Given the description of an element on the screen output the (x, y) to click on. 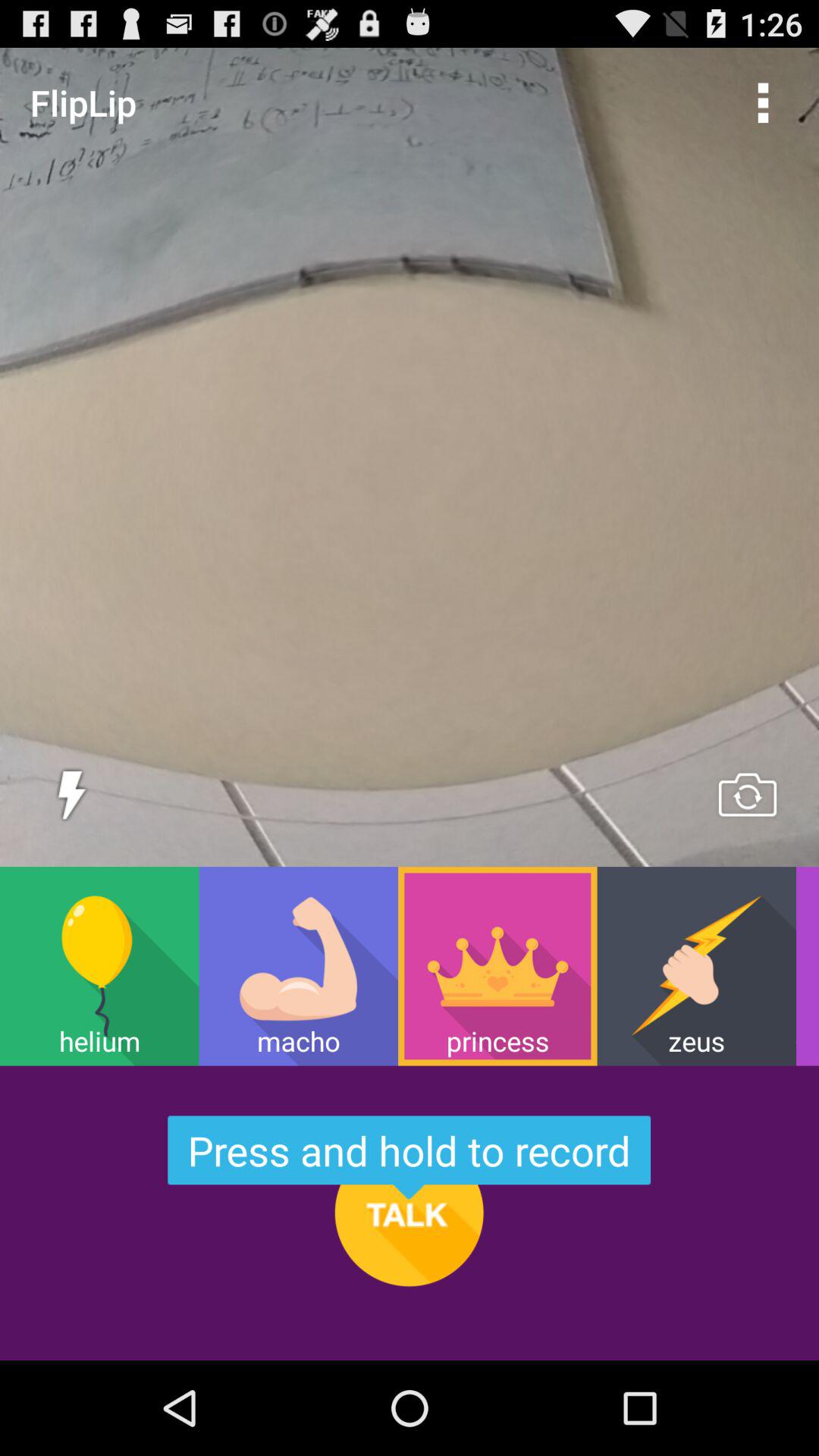
open item next to the zeus item (807, 965)
